Given the description of an element on the screen output the (x, y) to click on. 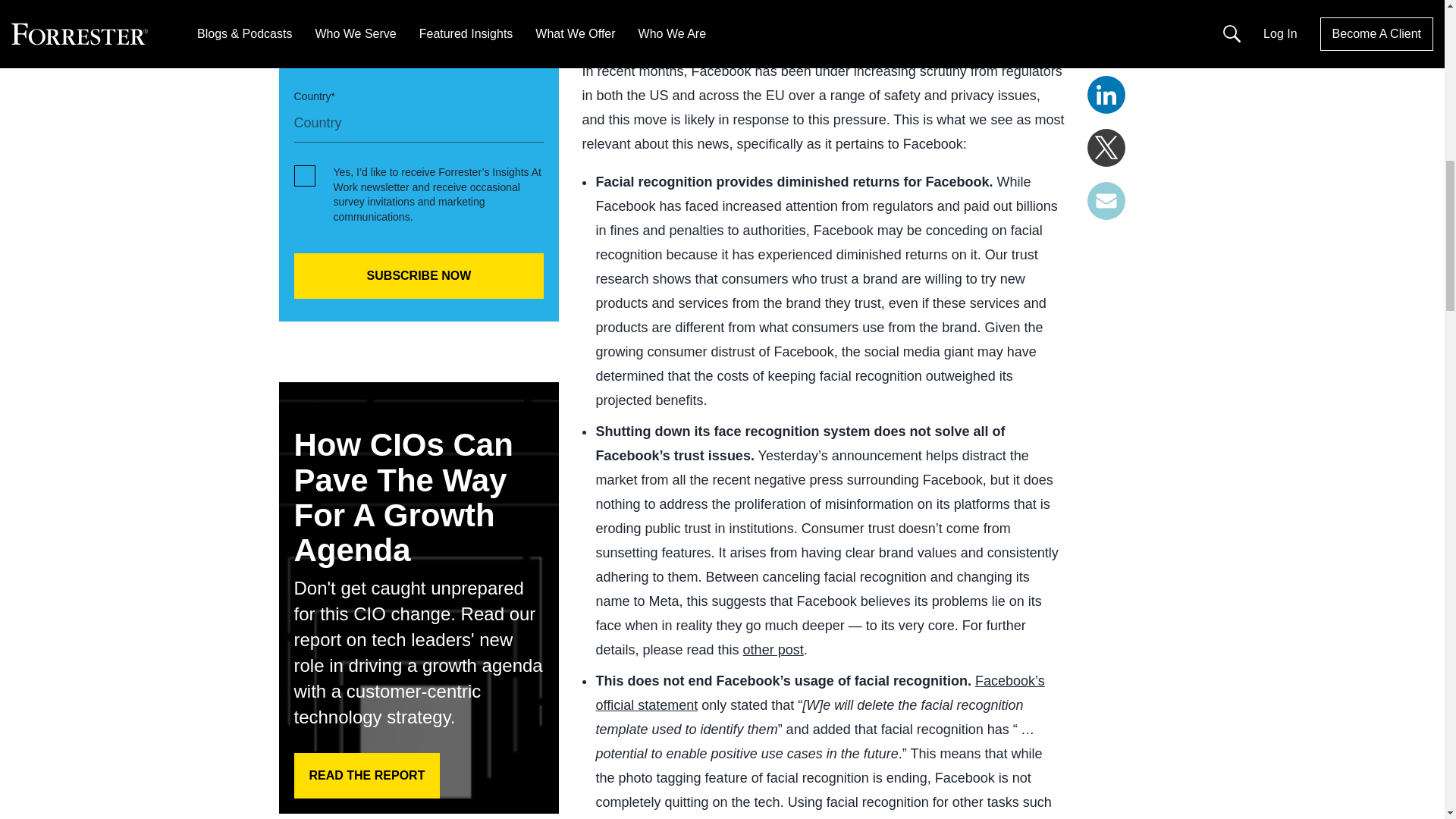
Subscribe Now (419, 275)
